Given the description of an element on the screen output the (x, y) to click on. 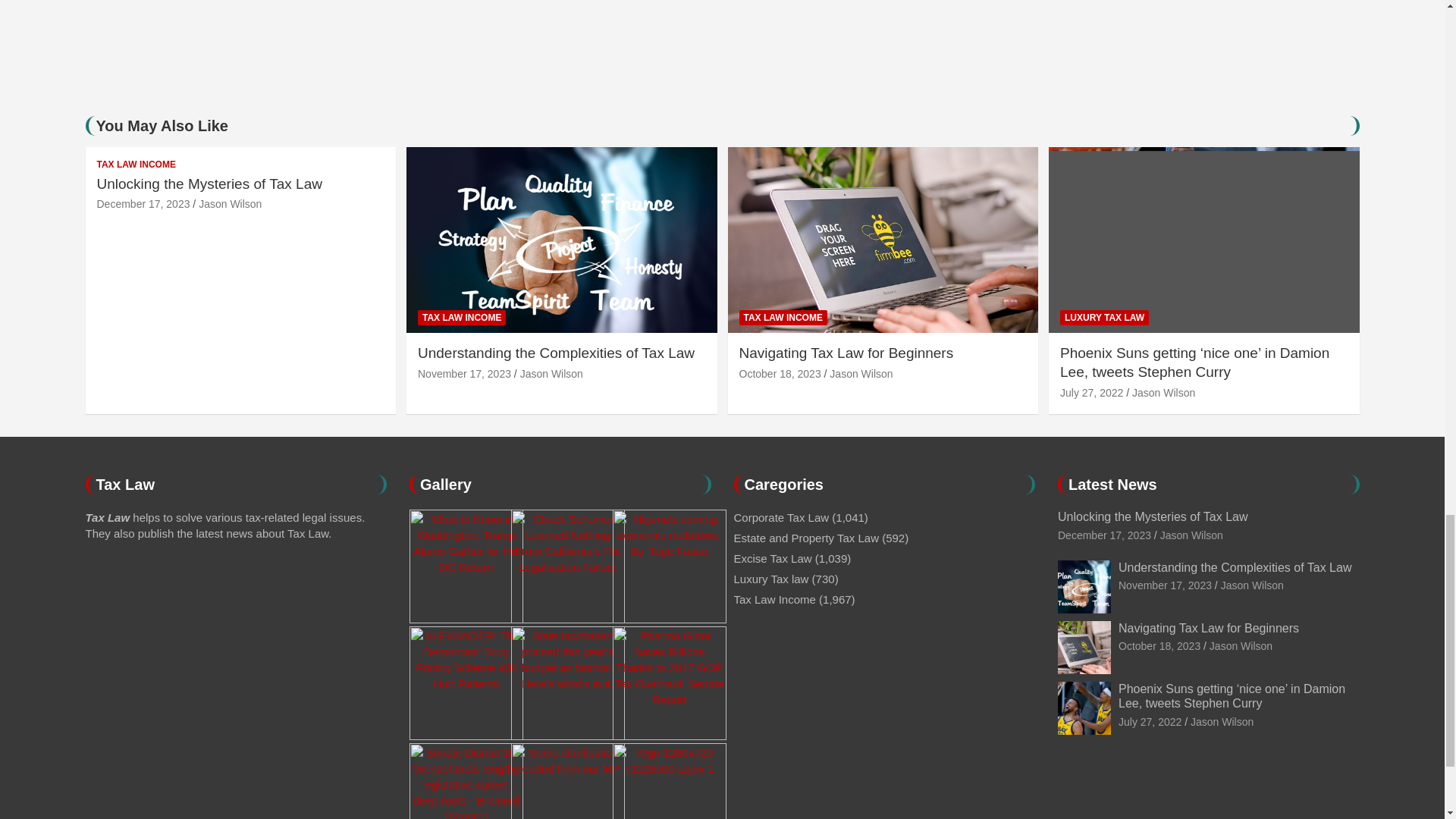
Unlocking the Mysteries of Tax Law (143, 203)
Understanding the Complexities of Tax Law (464, 373)
Navigating Tax Law for Beginners (779, 373)
Navigating Tax Law for Beginners (1158, 645)
Unlocking the Mysteries of Tax Law (1104, 535)
Understanding the Complexities of Tax Law (1164, 585)
